Given the description of an element on the screen output the (x, y) to click on. 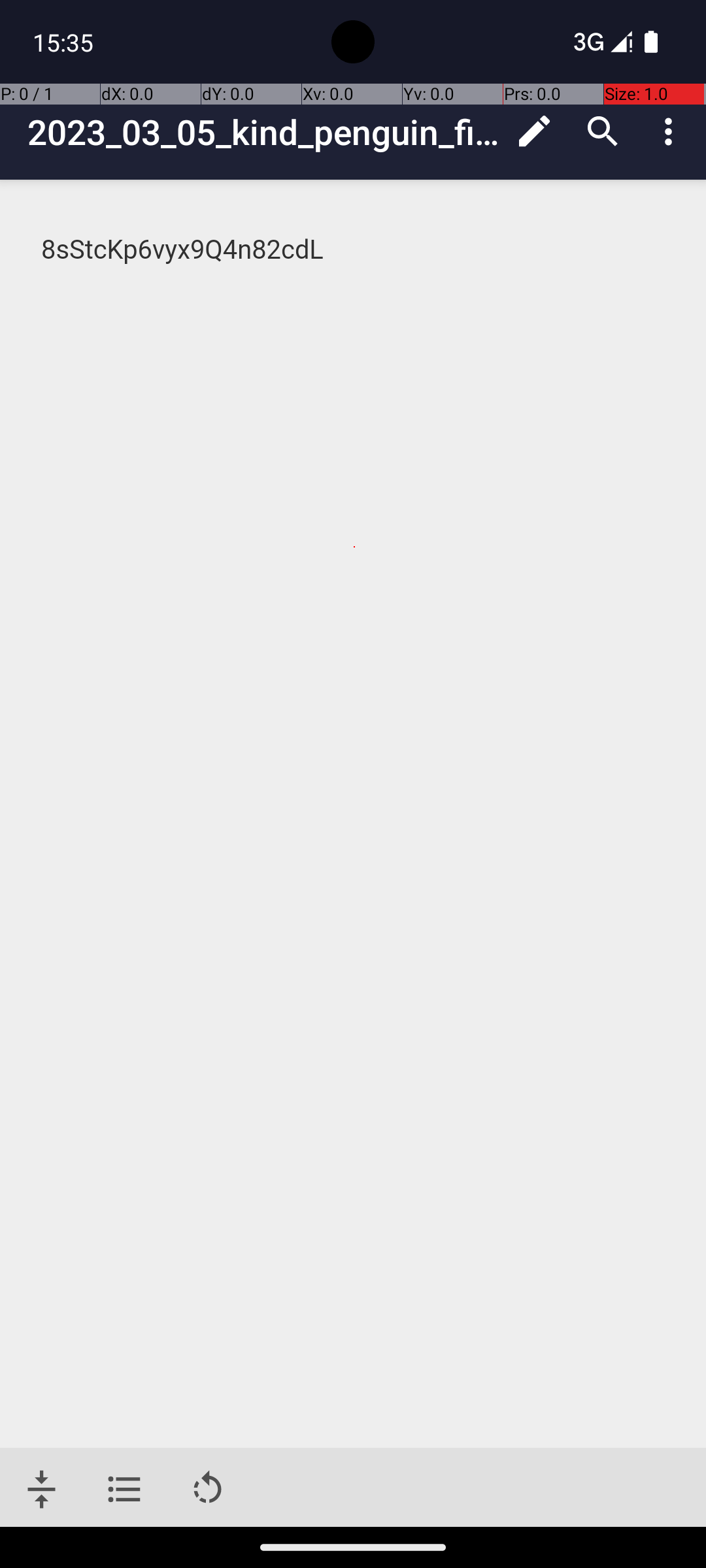
2023_03_05_kind_penguin_final Element type: android.widget.TextView (263, 131)
Jump to bottom Element type: android.widget.ImageView (41, 1488)
8sStcKp6vyx9Q4n82cdL Element type: android.widget.TextView (354, 249)
